Given the description of an element on the screen output the (x, y) to click on. 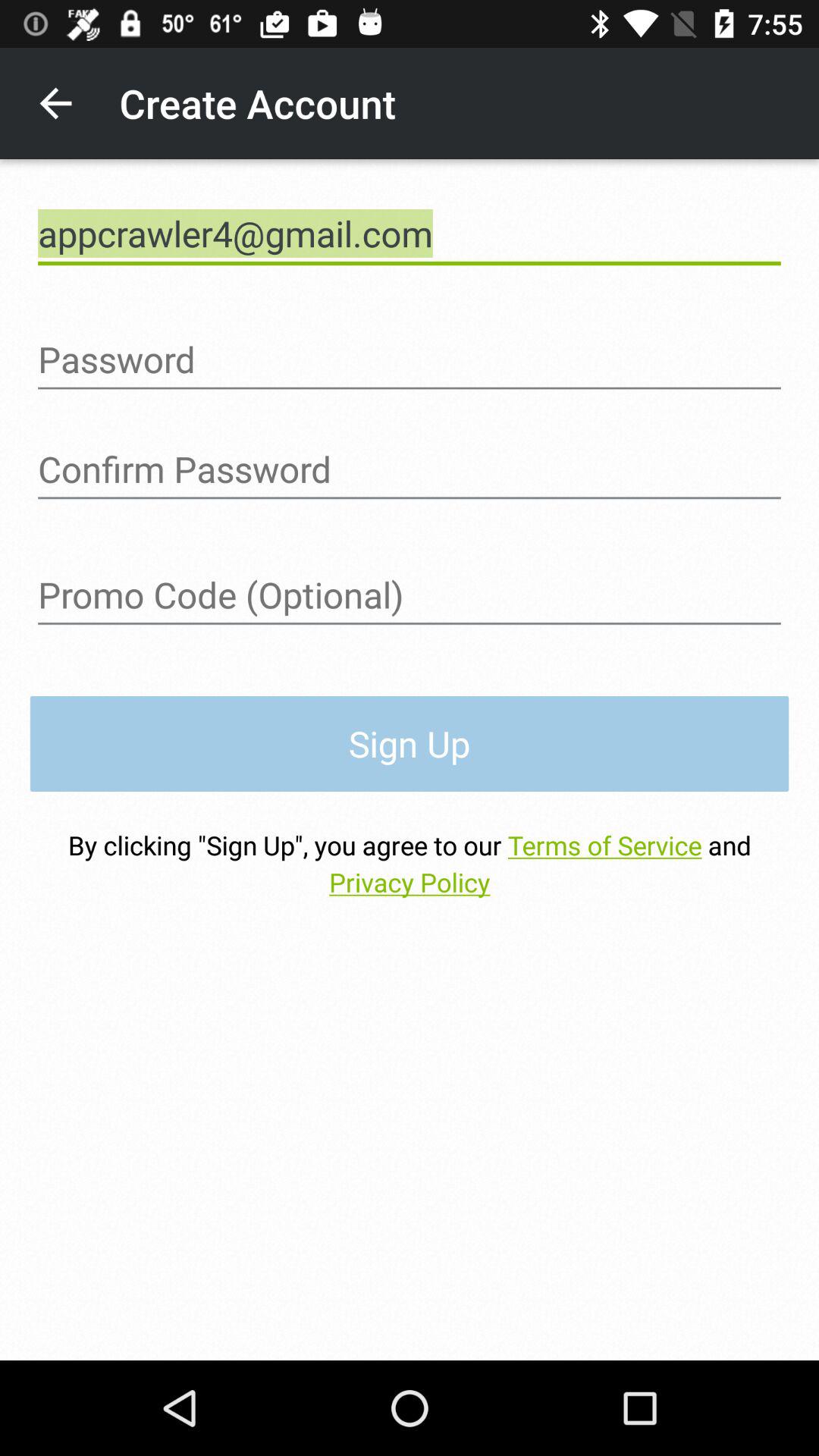
enter password confirmation (409, 469)
